Given the description of an element on the screen output the (x, y) to click on. 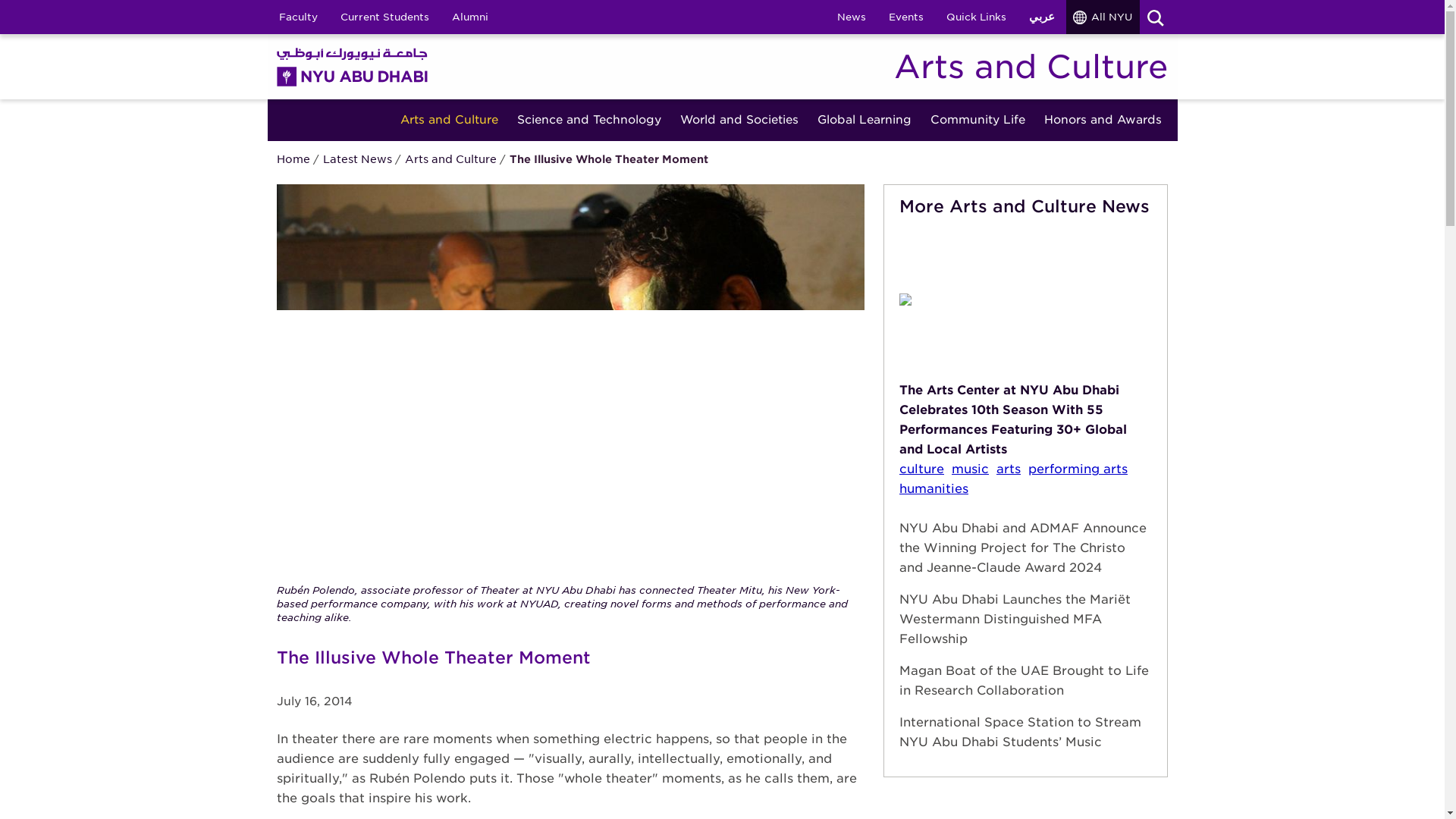
Quick Links (975, 17)
Events (905, 17)
Faculty (297, 17)
All NYU (1102, 17)
Alumni (469, 17)
New York University Abu Dhabi Home (352, 65)
News (850, 17)
Current Students (385, 17)
